Given the description of an element on the screen output the (x, y) to click on. 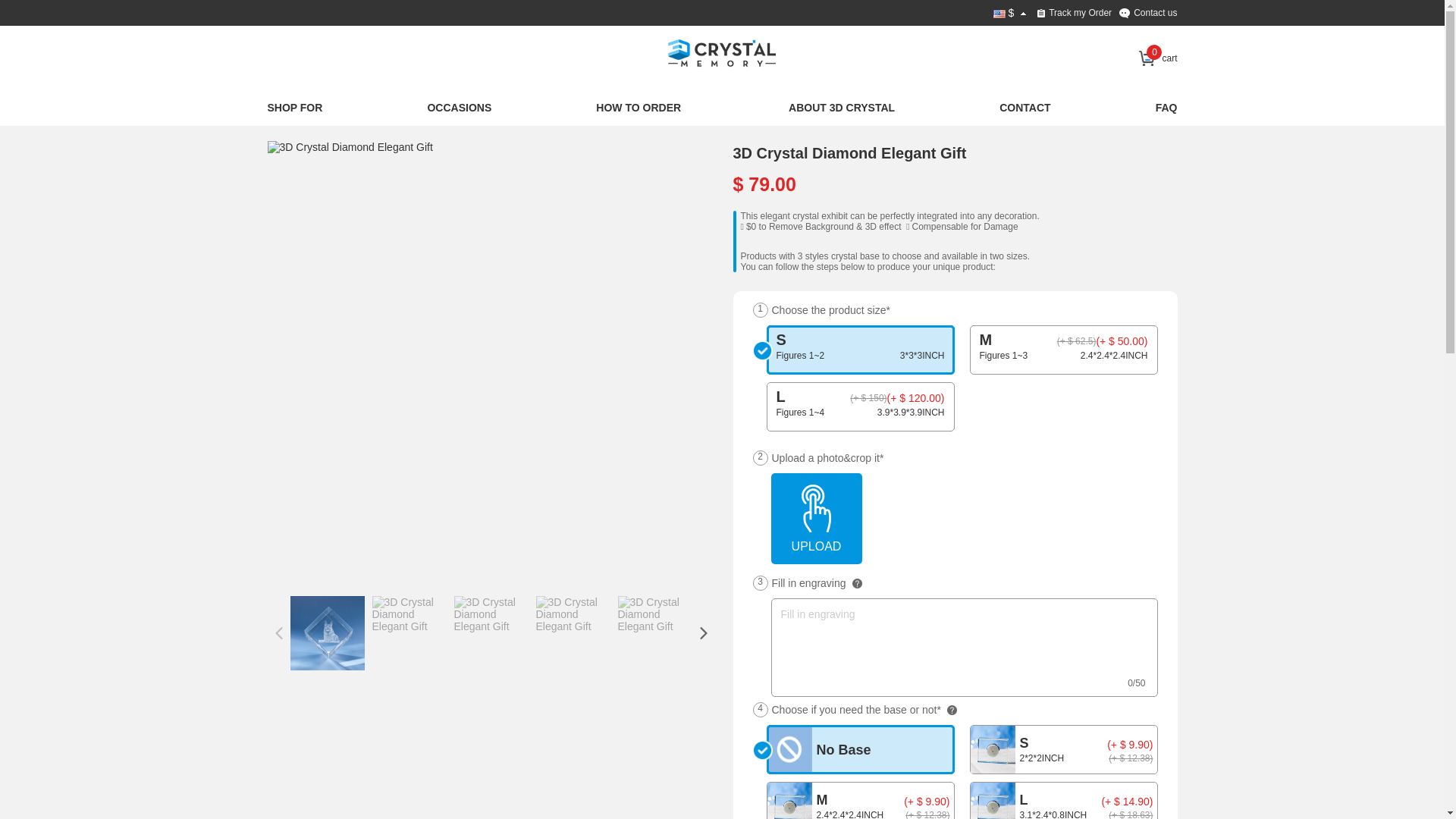
Track my Order Element type: text (1074, 12)
CONTACT Element type: text (1024, 108)
FAQ Element type: text (1166, 108)
3D Crystal Diamond Elegant Gift Element type: hover (326, 633)
 $ Element type: text (1011, 12)
3D Crystal Diamond Elegant Gift Element type: hover (490, 614)
cart
0 Element type: text (1157, 57)
SHOP FOR Element type: text (294, 108)
3D Crystal Diamond Elegant Gift Element type: hover (490, 147)
3dcrystalmemory Element type: hover (722, 56)
HOW TO ORDER  Element type: text (640, 108)
ABOUT 3D CRYSTAL Element type: text (841, 108)
OCCASIONS Element type: text (458, 108)
3D Crystal Diamond Elegant Gift Element type: hover (572, 614)
3D Crystal Diamond Elegant Gift Element type: hover (408, 614)
3D Crystal Diamond Elegant Gift Element type: hover (654, 614)
Contact us Element type: text (1147, 12)
